Given the description of an element on the screen output the (x, y) to click on. 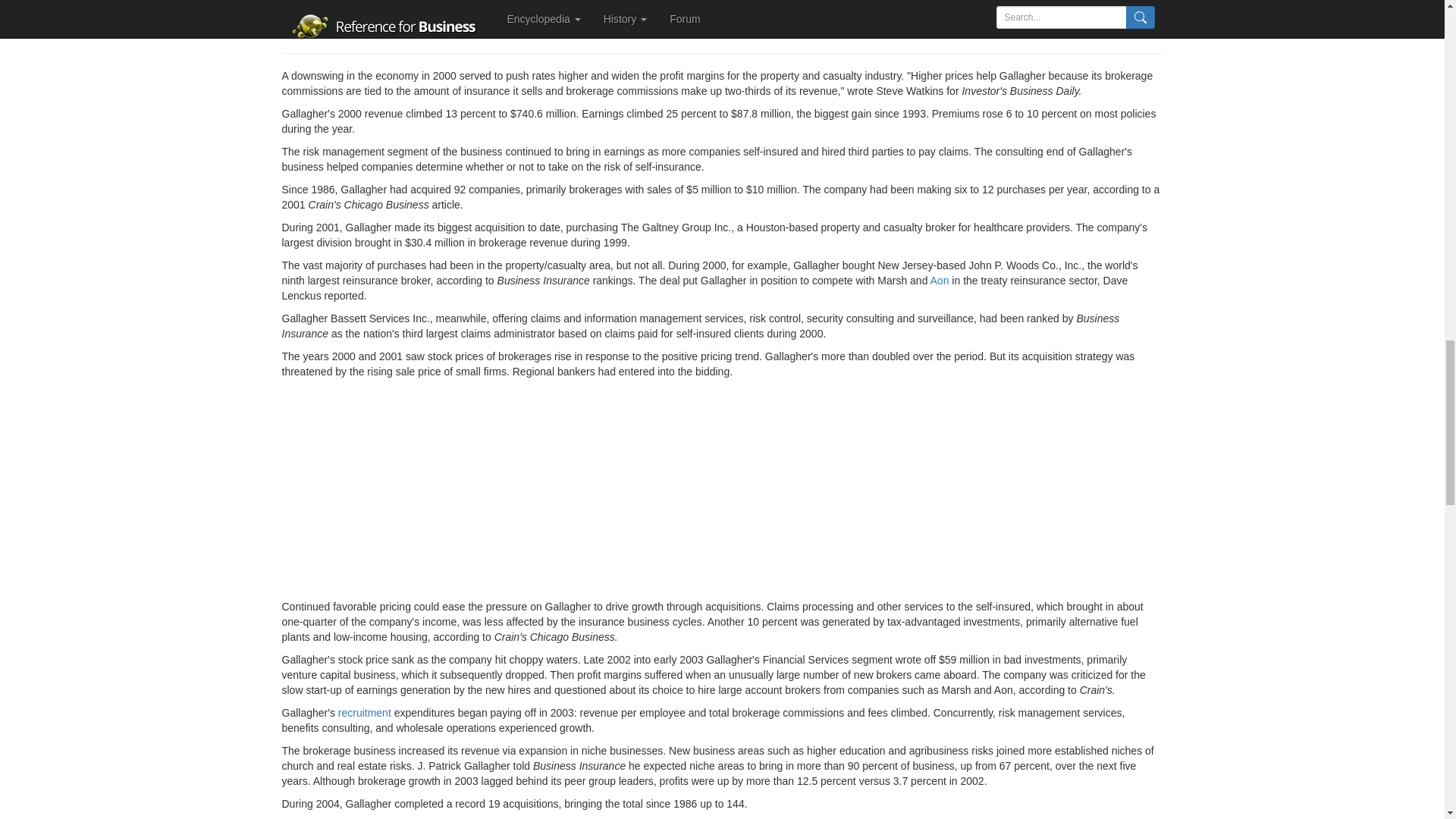
Aon (939, 280)
View 'recruitment' definition from Wikipedia (364, 712)
View 'aon' definition from Wikipedia (939, 280)
recruitment (364, 712)
